Given the description of an element on the screen output the (x, y) to click on. 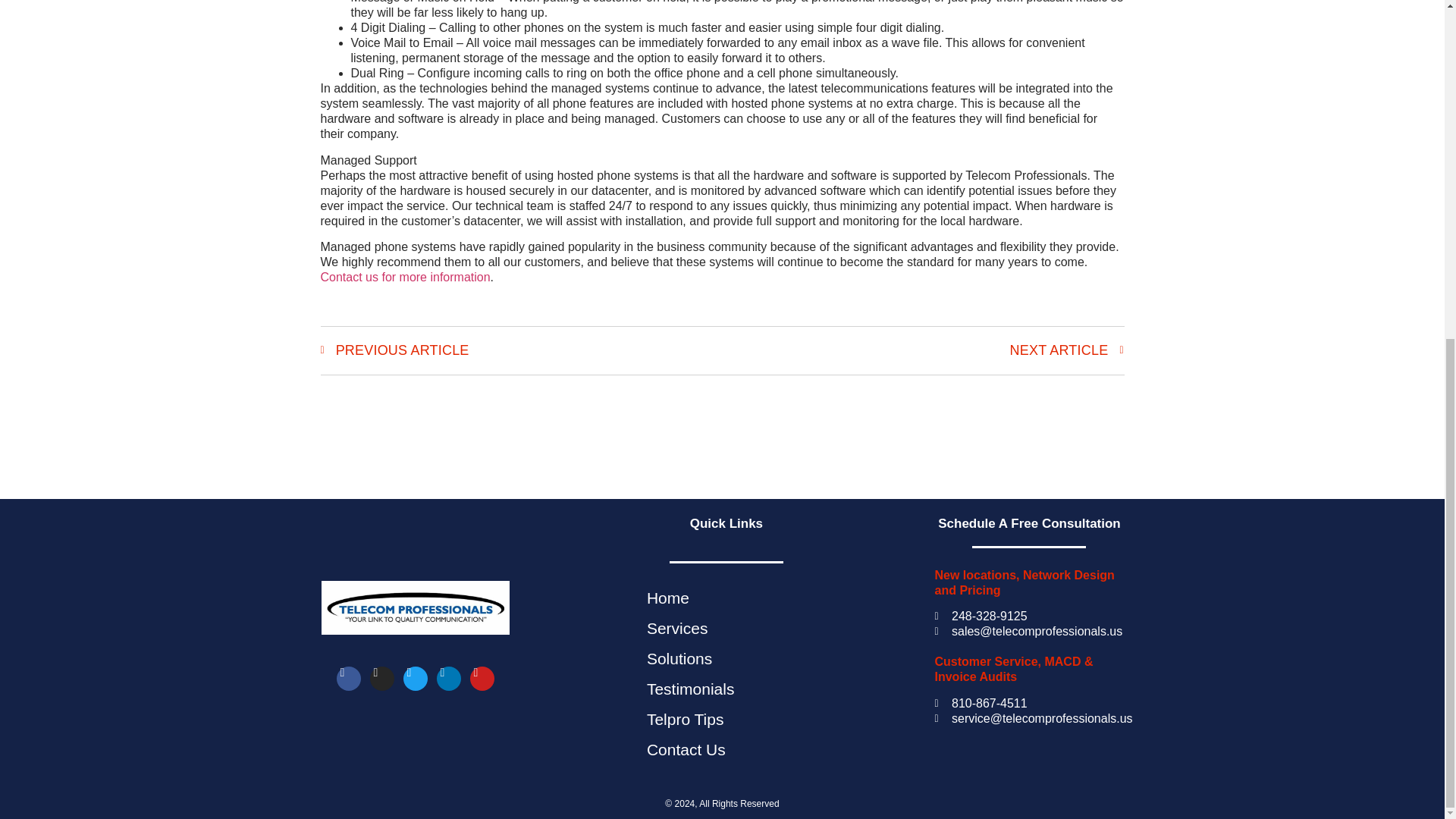
NEXT ARTICLE (923, 350)
Home (726, 598)
Contact us for more information (404, 277)
Telpro Tips (726, 719)
248-328-9125 (1029, 616)
PREVIOUS ARTICLE (521, 350)
Testimonials (726, 689)
Services (726, 628)
Contact Us (726, 749)
Solutions (726, 658)
